Given the description of an element on the screen output the (x, y) to click on. 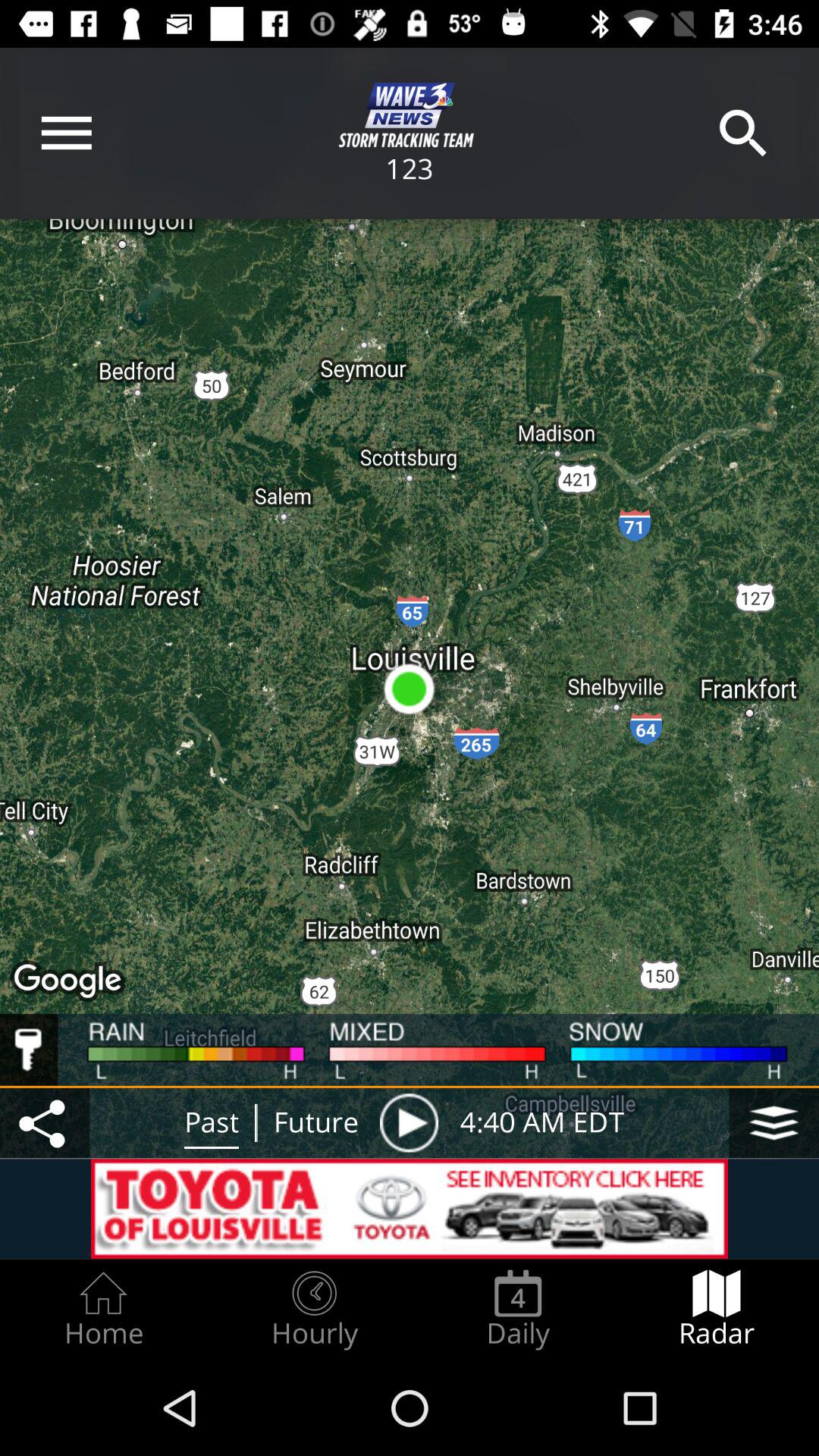
turn off the item next to radar radio button (518, 1309)
